Given the description of an element on the screen output the (x, y) to click on. 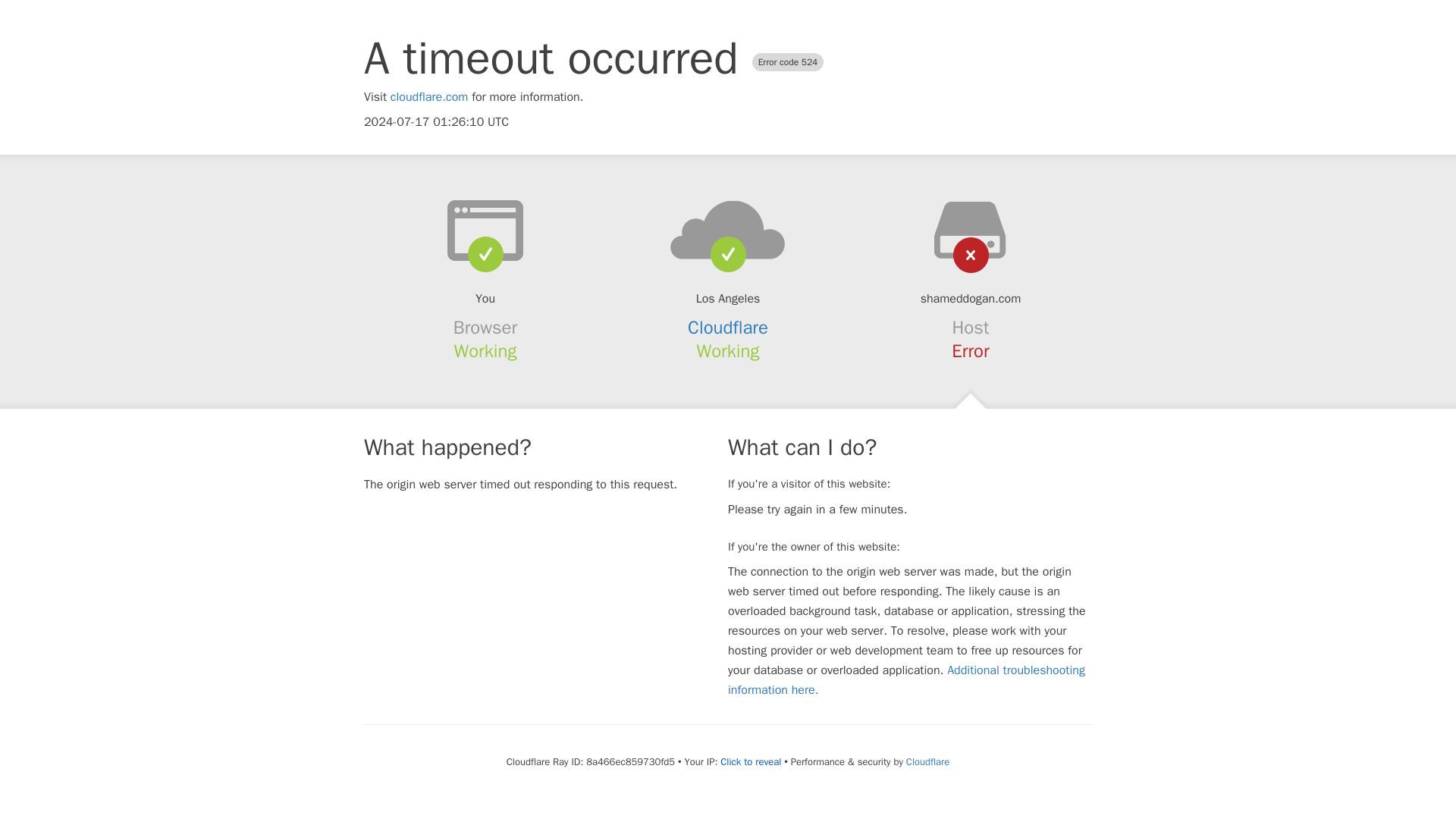
Cloudflare (727, 327)
cloudflare.com (429, 96)
Click to reveal (750, 762)
Cloudflare (927, 761)
Additional troubleshooting information here. (906, 679)
